Given the description of an element on the screen output the (x, y) to click on. 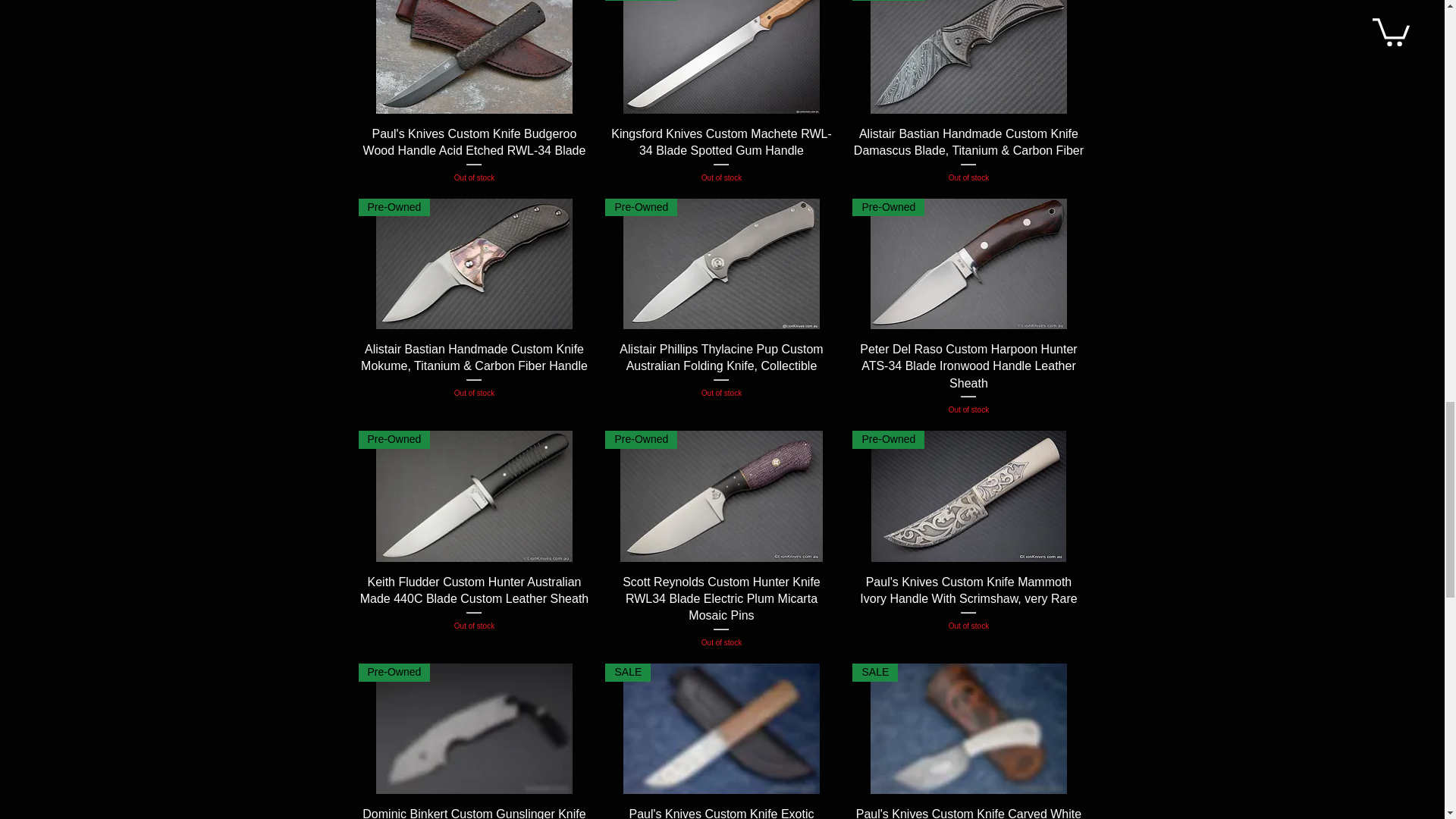
Pre-Owned (473, 264)
Pre-Owned (967, 56)
Pre-Owned (473, 495)
Pre-Owned (721, 264)
Pre-Owned (967, 264)
Pre-Owned (721, 56)
